Given the description of an element on the screen output the (x, y) to click on. 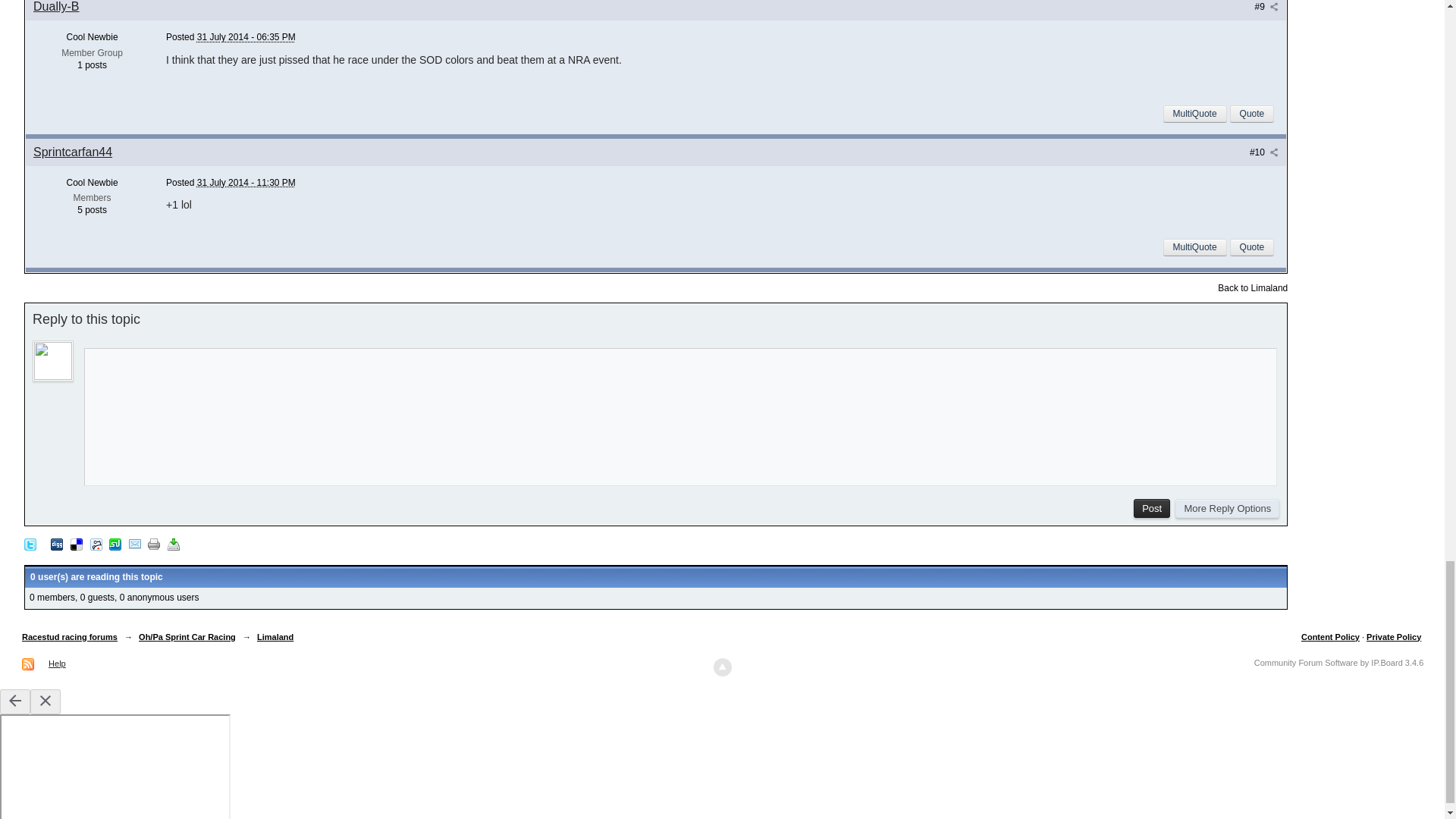
Post (1152, 507)
More Reply Options (1226, 507)
